Given the description of an element on the screen output the (x, y) to click on. 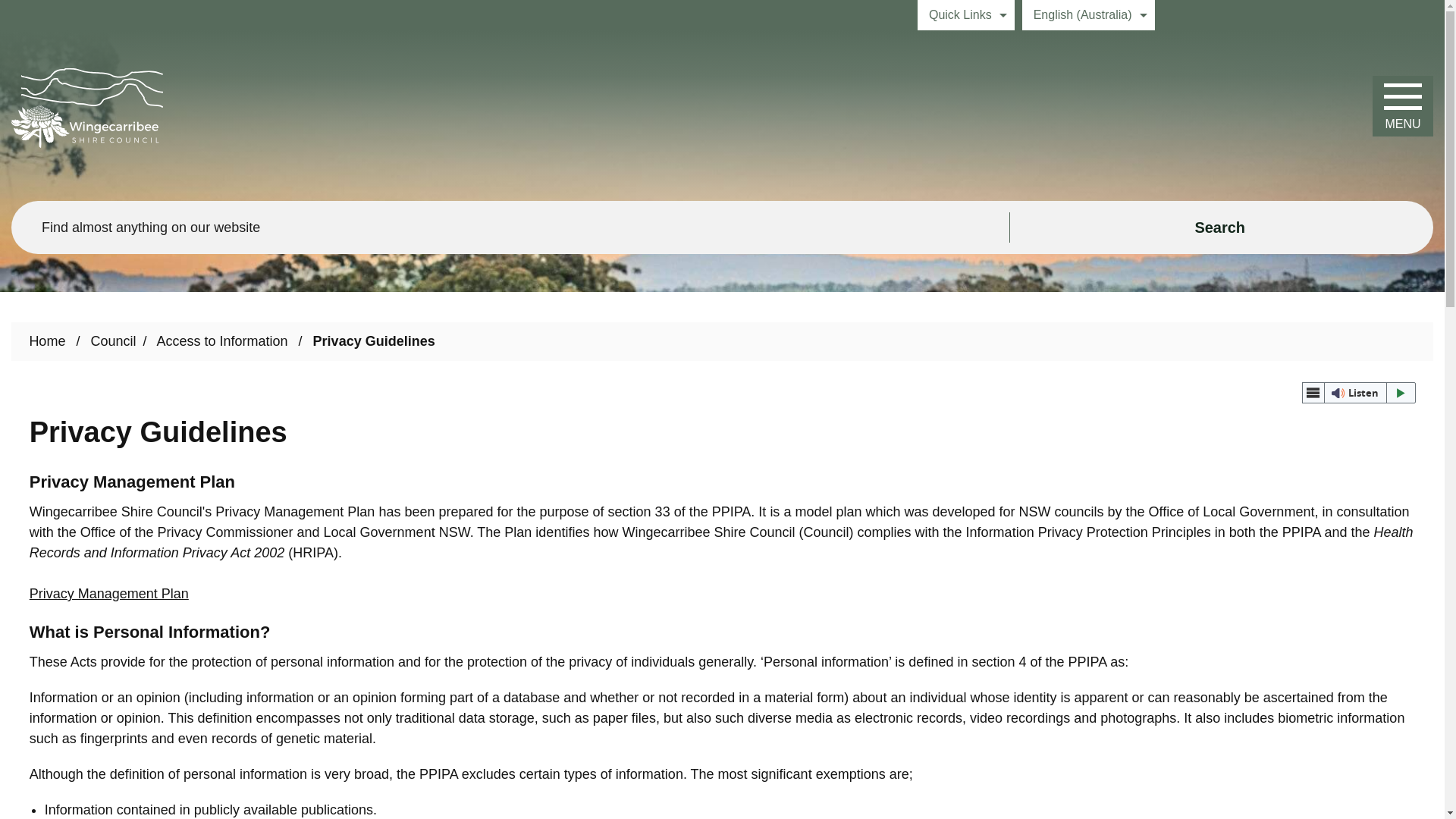
MENU (1402, 106)
Search (1220, 226)
Quick Links (965, 15)
Wingecarribee Shire Council - Home - Logo (87, 107)
Search (1220, 226)
Search (1220, 226)
